Given the description of an element on the screen output the (x, y) to click on. 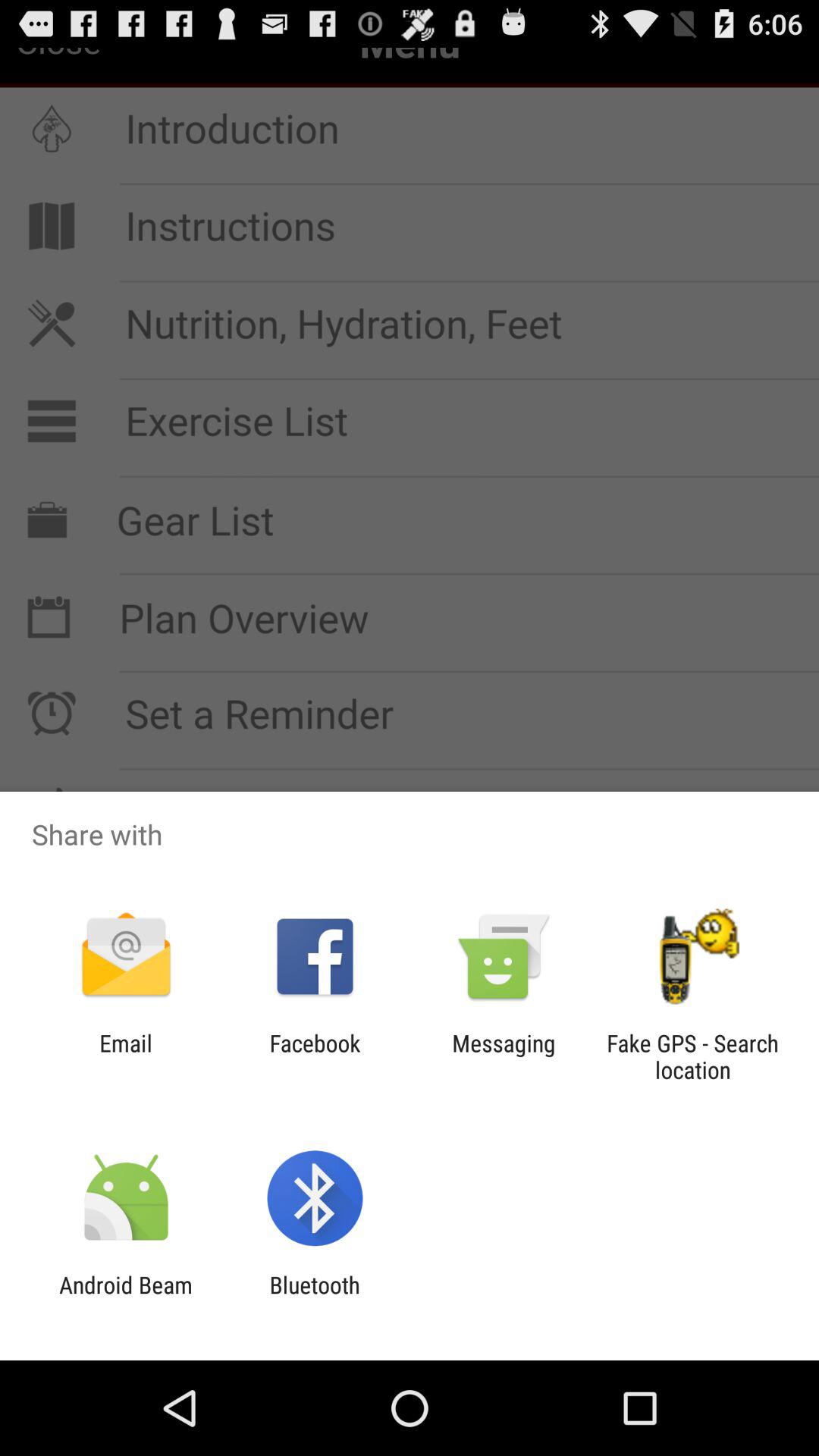
swipe until the bluetooth icon (314, 1298)
